Given the description of an element on the screen output the (x, y) to click on. 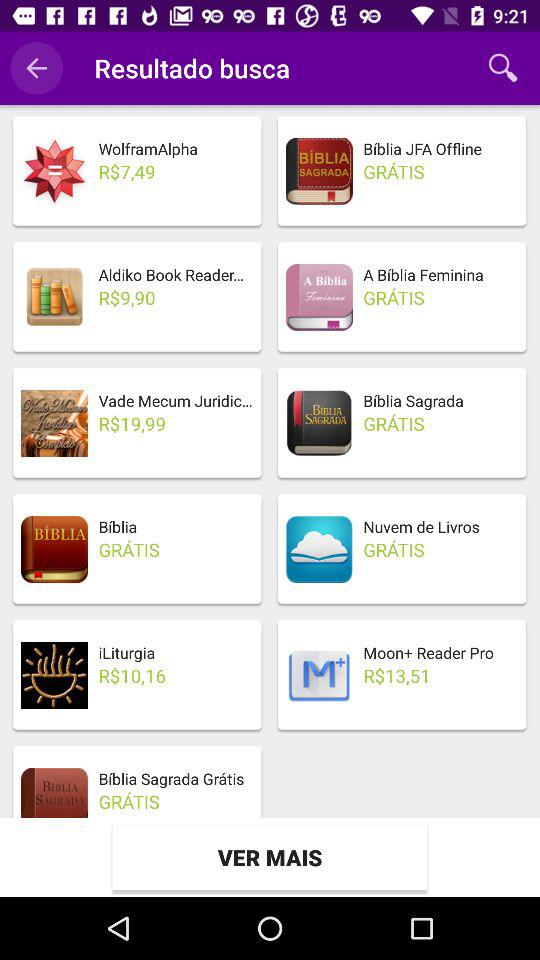
choose the item to the right of resultado busca icon (503, 67)
